Given the description of an element on the screen output the (x, y) to click on. 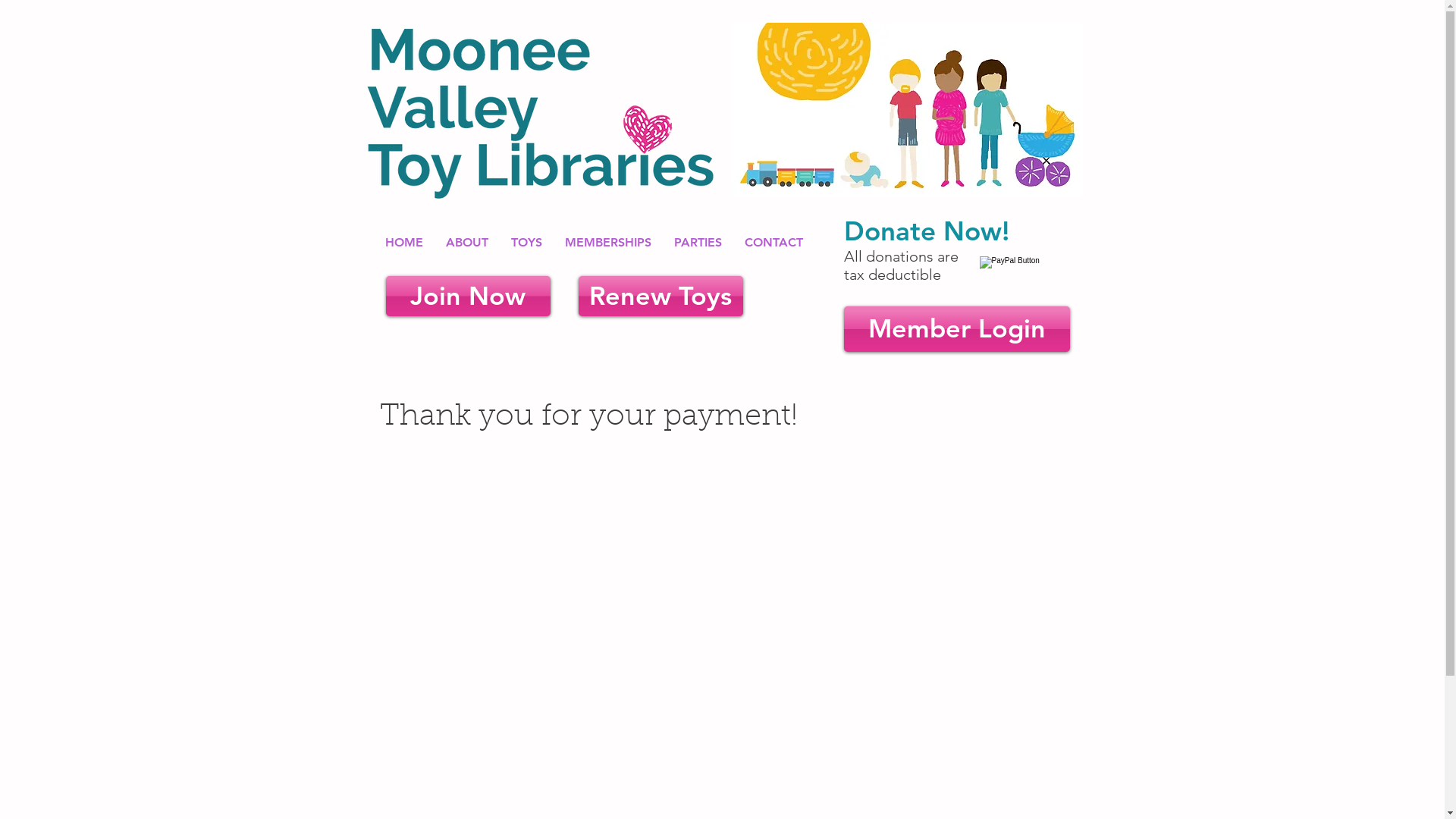
TOYS Element type: text (526, 242)
MEMBERSHIPS Element type: text (607, 242)
Join Now Element type: text (467, 296)
Member Login Element type: text (956, 328)
ABOUT Element type: text (466, 242)
CONTACT Element type: text (773, 242)
HOME Element type: text (403, 242)
Renew Toys Element type: text (659, 296)
PARTIES Element type: text (697, 242)
